Given the description of an element on the screen output the (x, y) to click on. 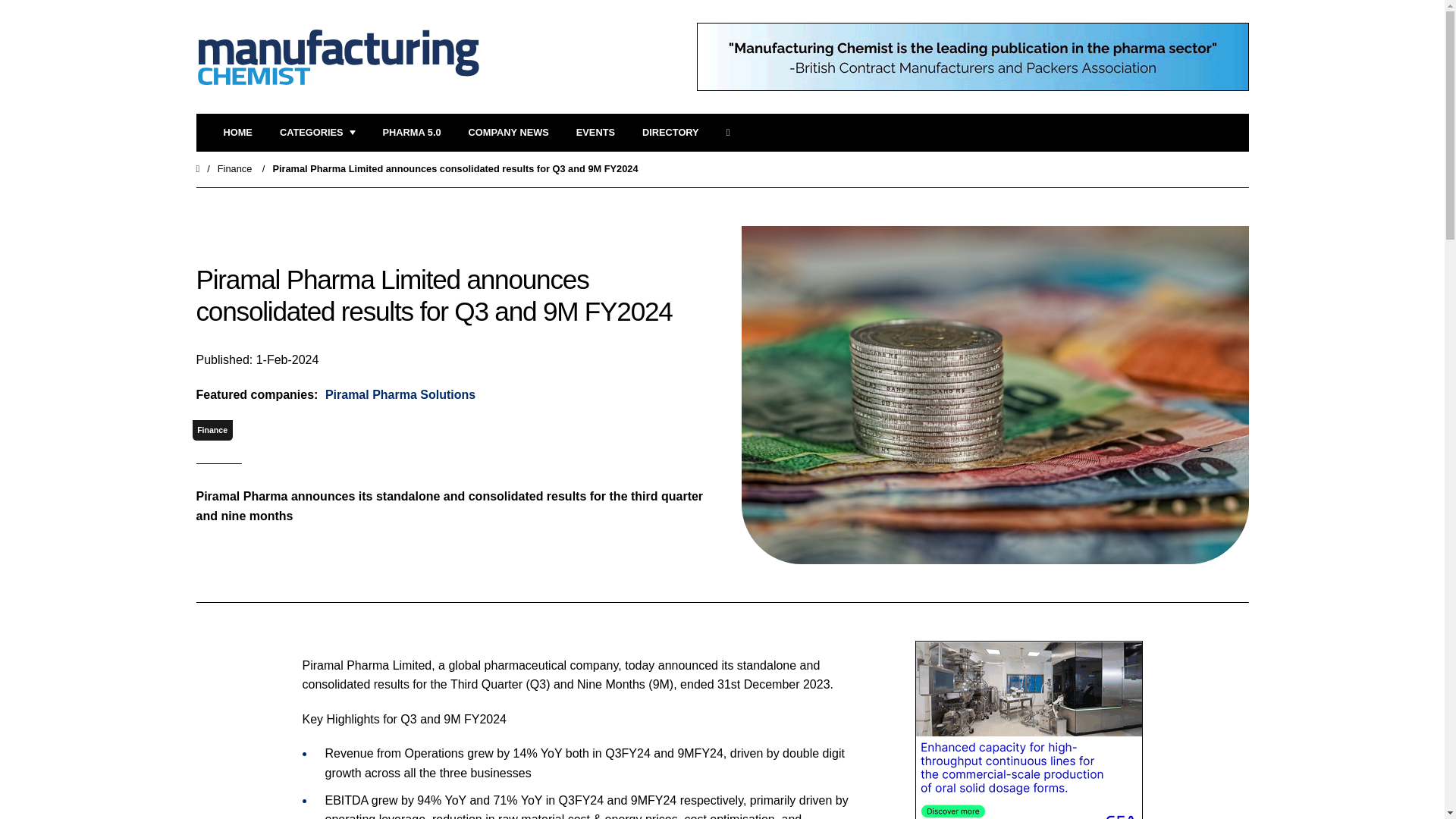
Finance (212, 430)
DIRECTORY (670, 133)
Piramal Pharma Solutions (398, 394)
EVENTS (595, 133)
SEARCH (732, 133)
Pharma 5.0 (411, 133)
HOME (236, 133)
PHARMA 5.0 (411, 133)
Directory (670, 133)
Finance (233, 168)
CATEGORIES (317, 133)
COMPANY NEWS (508, 133)
